Given the description of an element on the screen output the (x, y) to click on. 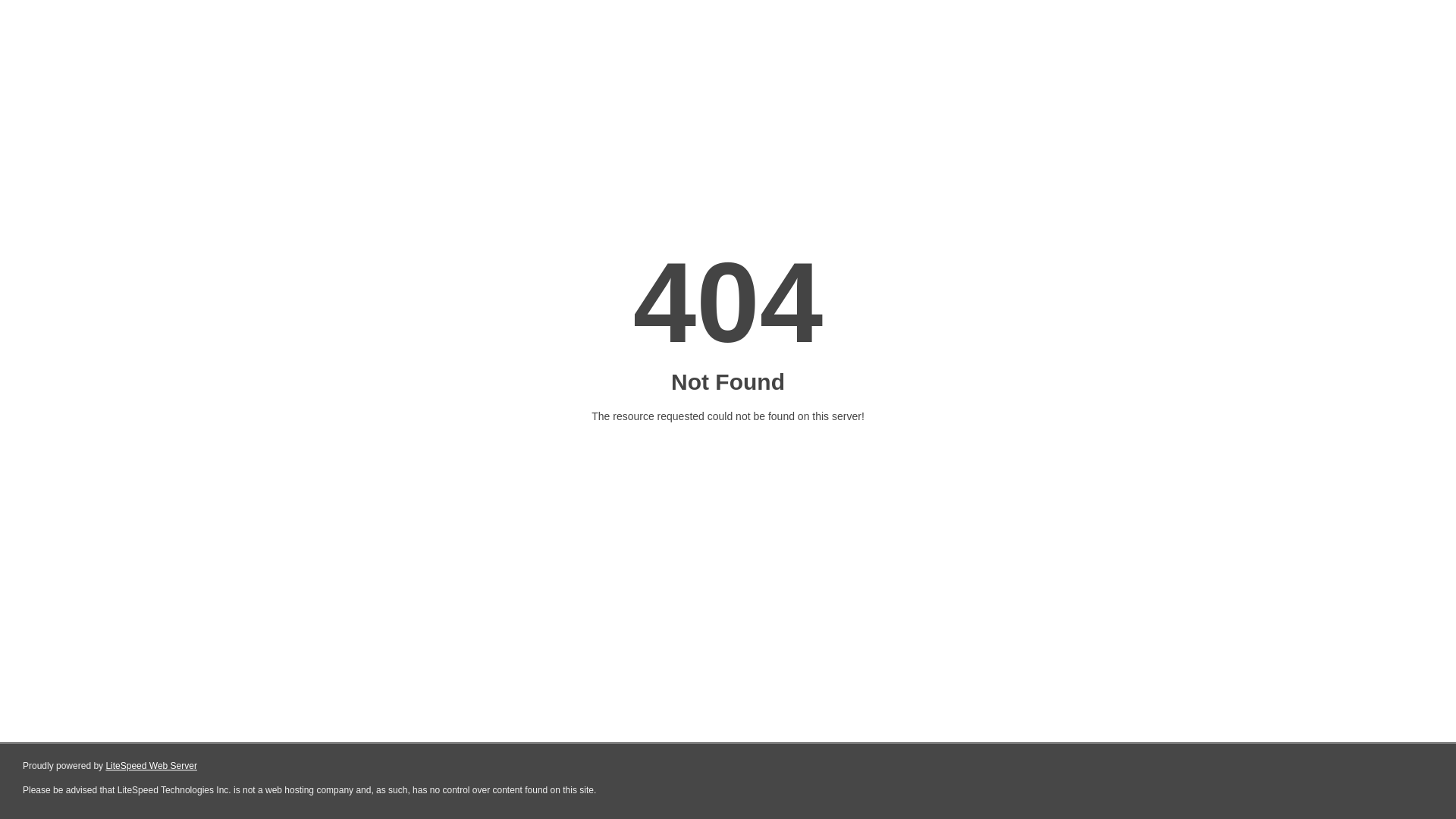
LiteSpeed Web Server Element type: text (151, 765)
